Given the description of an element on the screen output the (x, y) to click on. 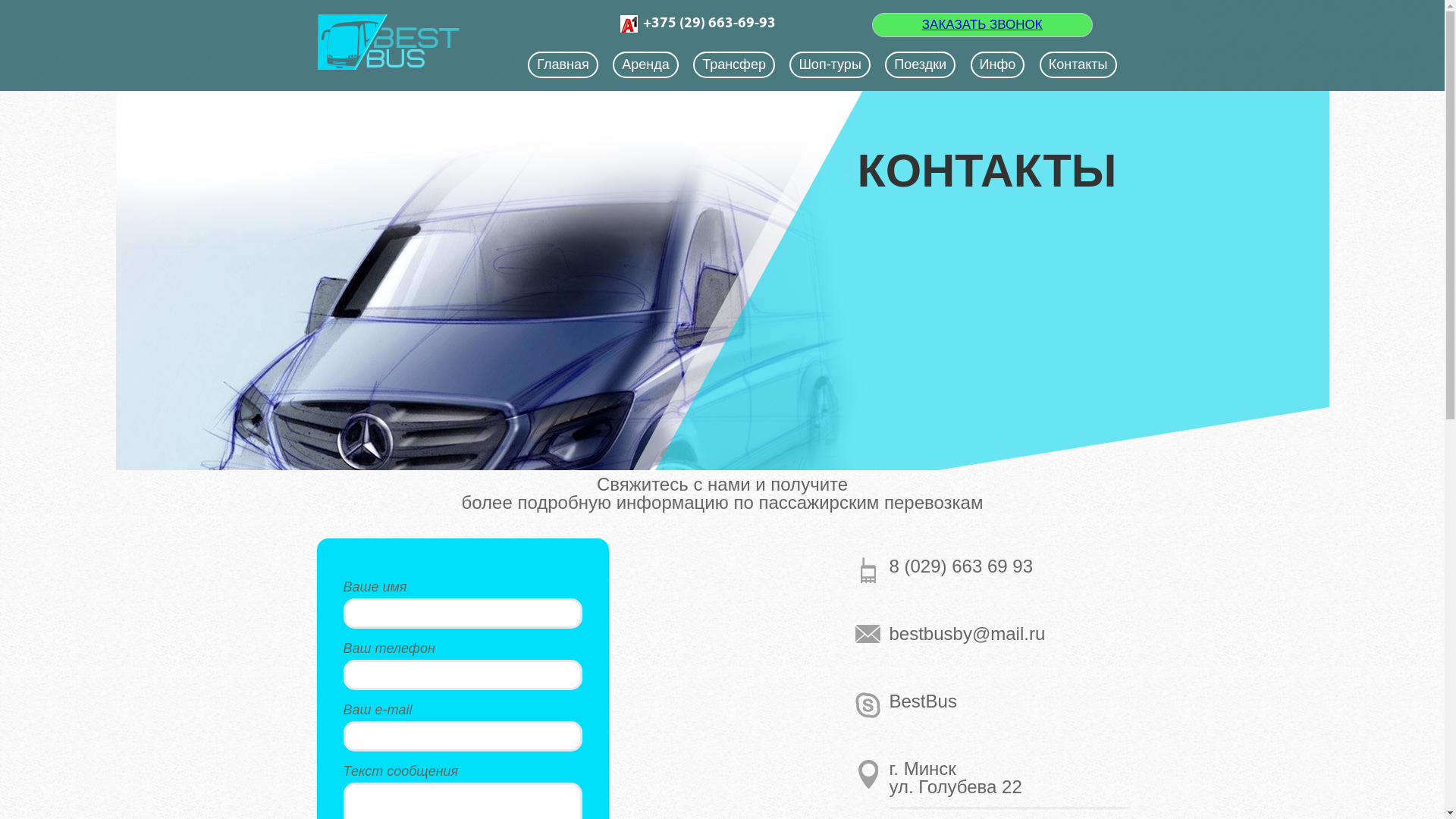
8 (029) 663 69 93 Element type: text (1007, 566)
bestbusby@mail.ru Element type: text (1007, 633)
BestBus Element type: text (1007, 701)
